Given the description of an element on the screen output the (x, y) to click on. 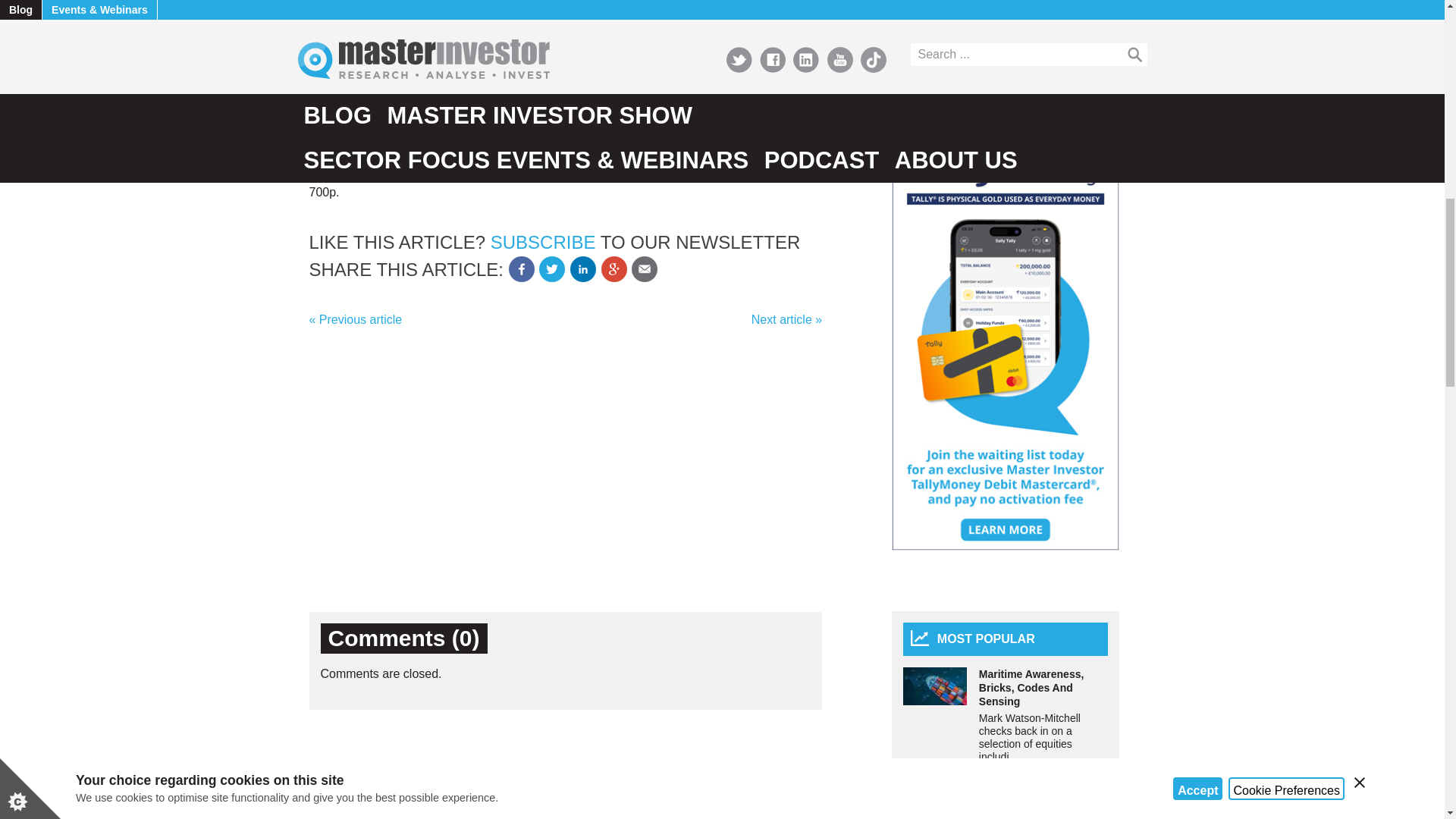
SHARE ON GOOGLE (614, 268)
SHARE ON LINKEDIN (582, 268)
SUBSCRIBE (542, 241)
SHARE ON TWITTER (551, 268)
SEND EMAIL (644, 268)
SHARE ON FACEBOOK (521, 268)
